Given the description of an element on the screen output the (x, y) to click on. 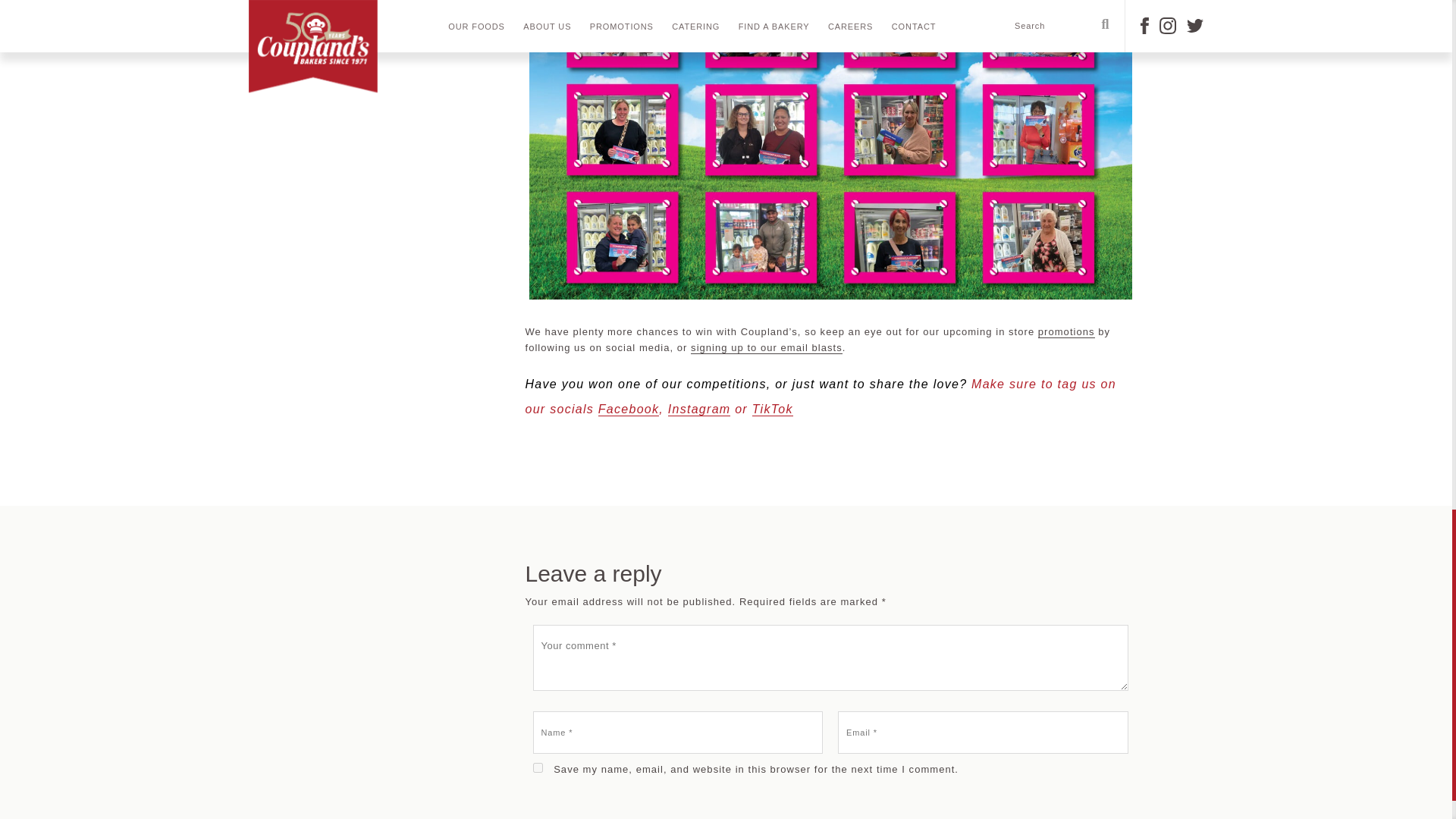
yes (536, 767)
